Given the description of an element on the screen output the (x, y) to click on. 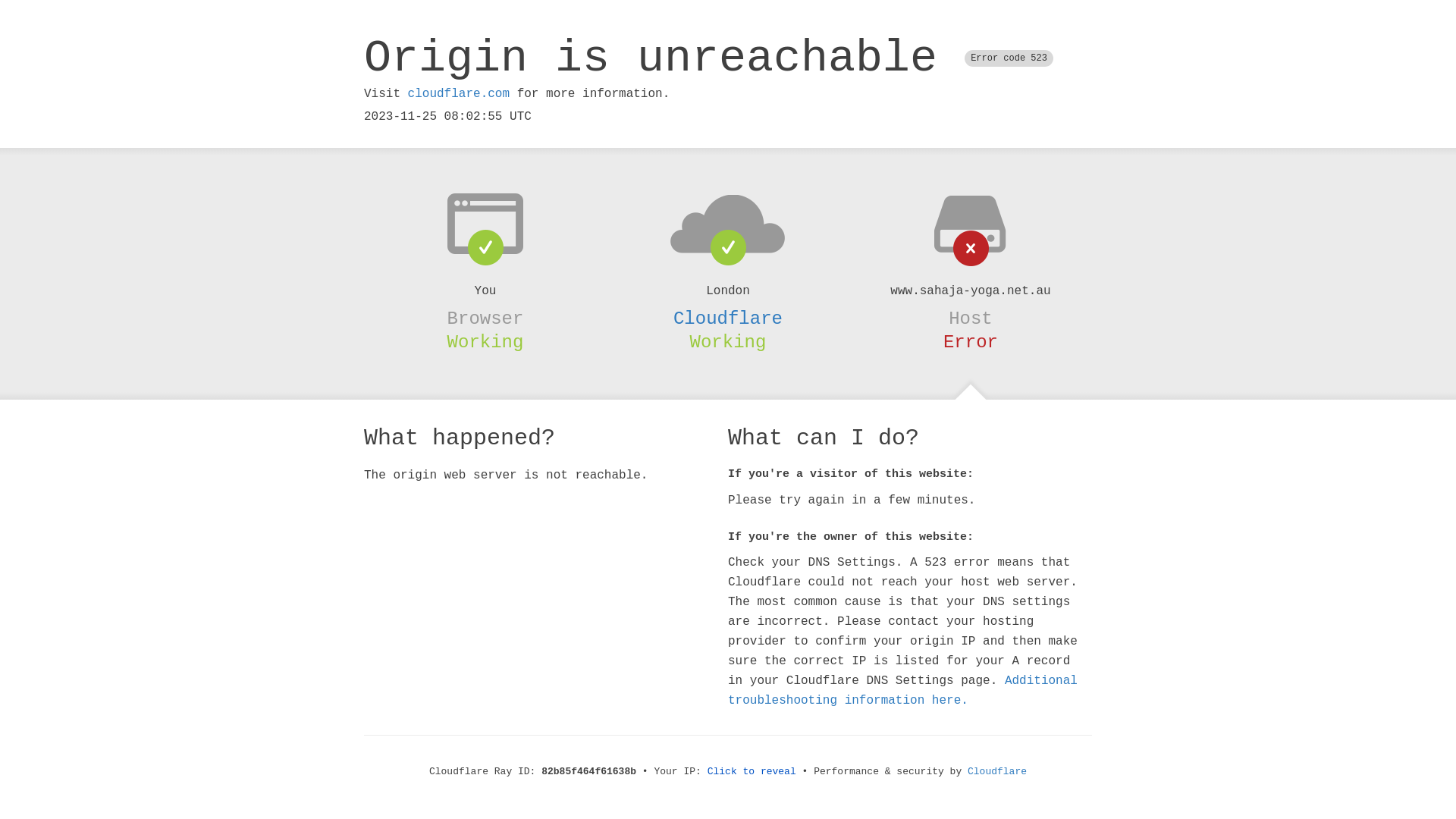
cloudflare.com Element type: text (458, 93)
Click to reveal Element type: text (751, 771)
Cloudflare Element type: text (727, 318)
Additional troubleshooting information here. Element type: text (902, 690)
Cloudflare Element type: text (996, 771)
